Given the description of an element on the screen output the (x, y) to click on. 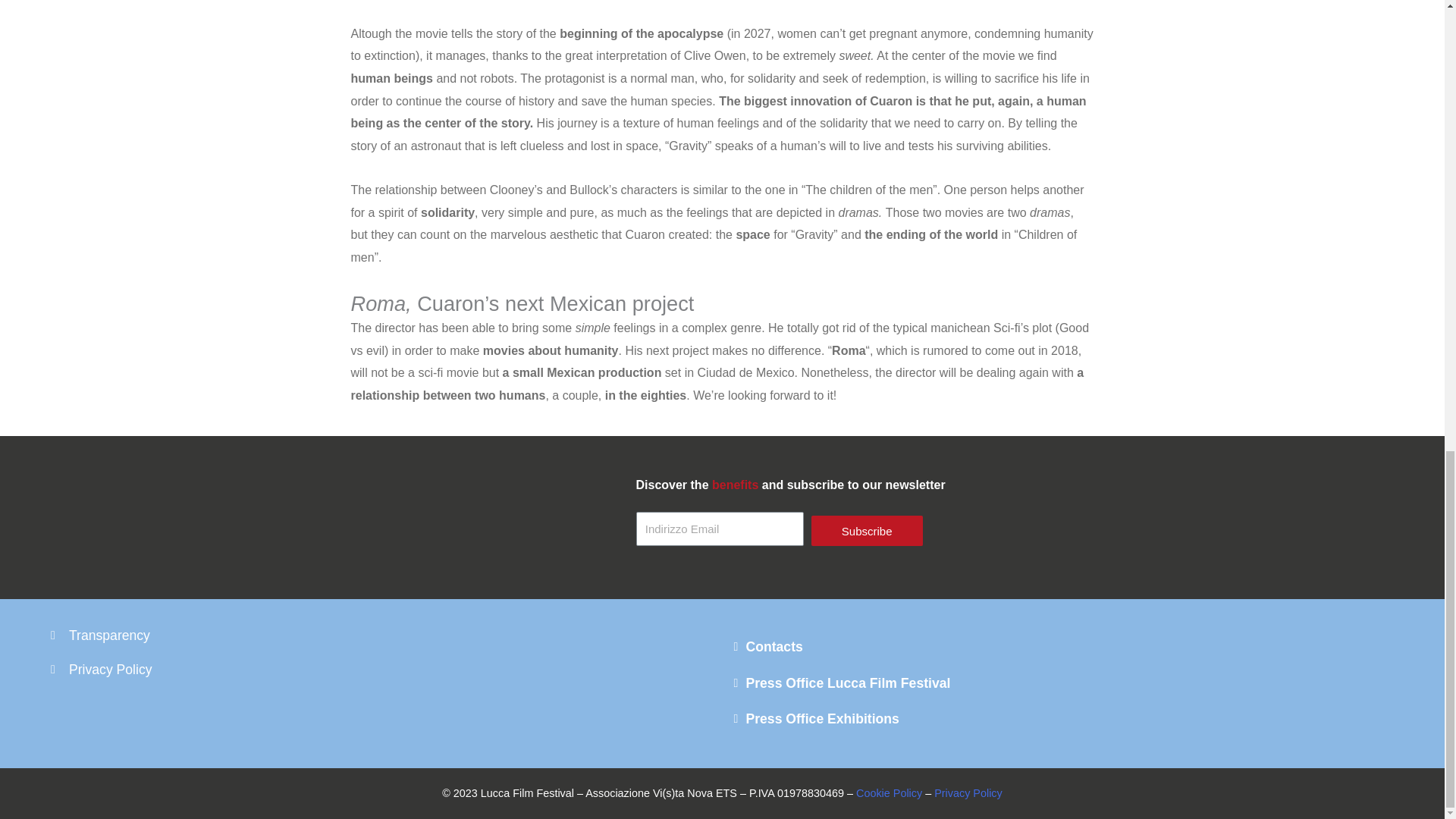
Cookie Policy  (888, 793)
Privacy Policy  (968, 793)
